Given the description of an element on the screen output the (x, y) to click on. 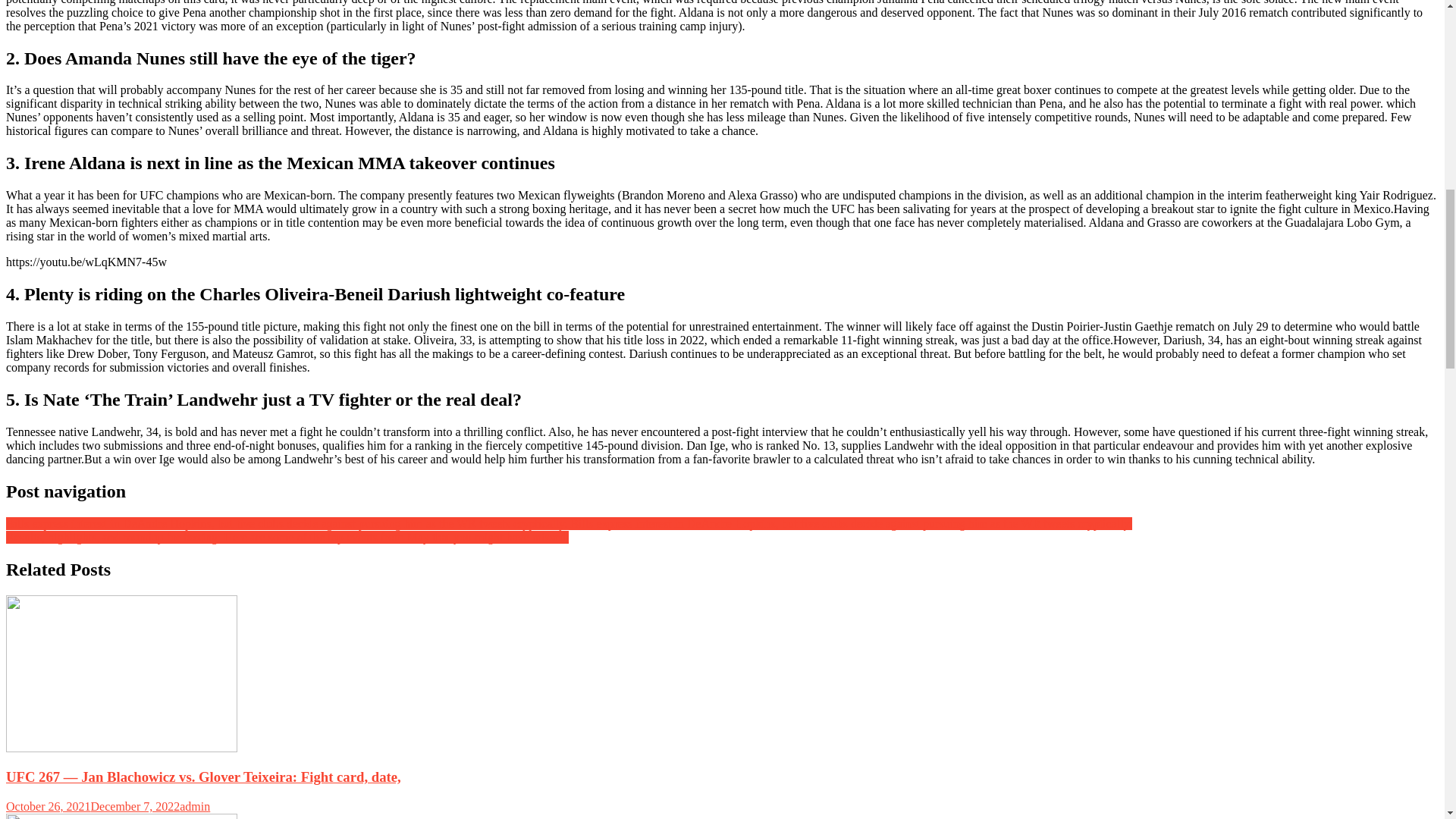
October 26, 2021December 7, 2022 (92, 806)
admin (194, 806)
